Given the description of an element on the screen output the (x, y) to click on. 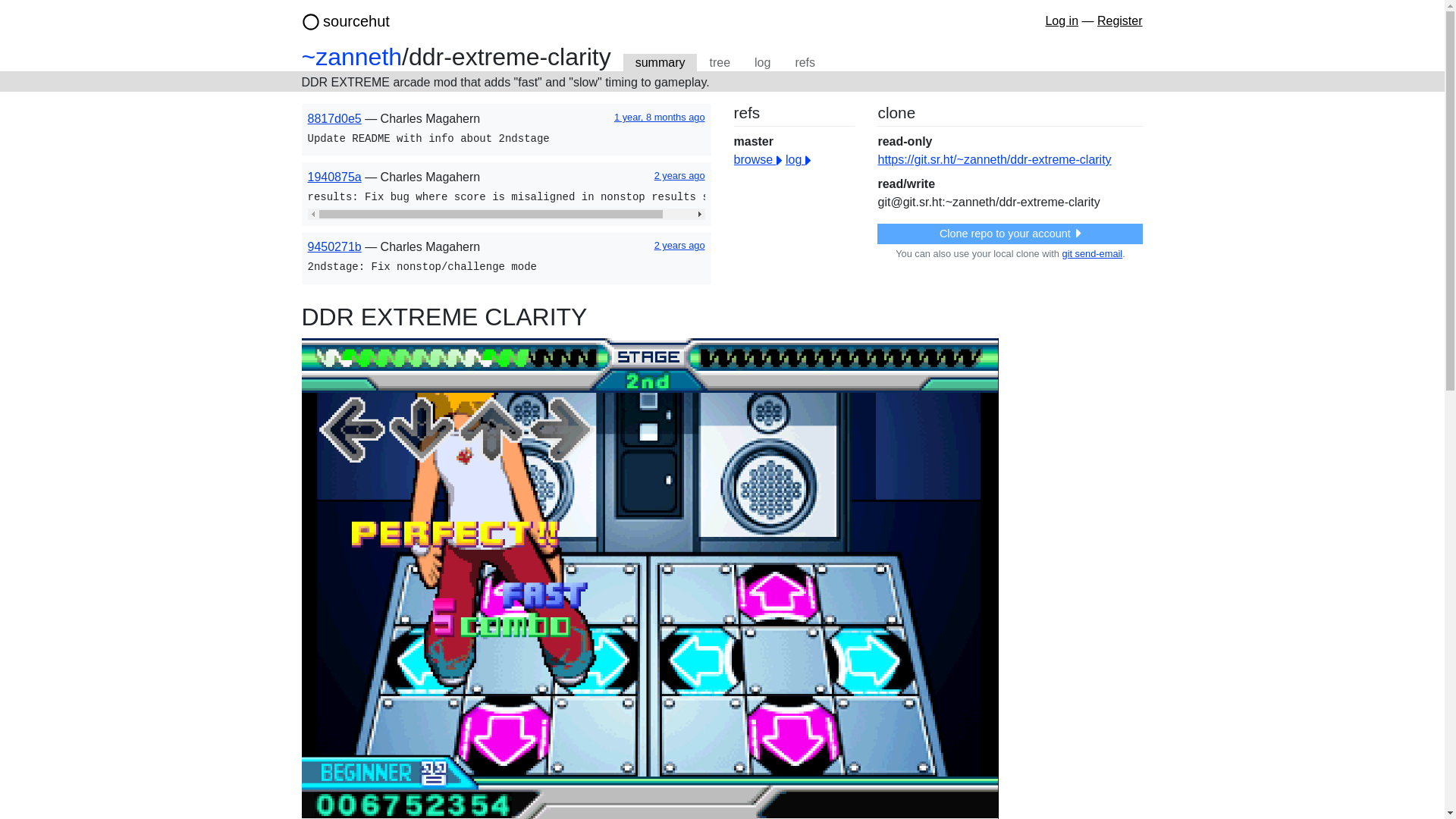
browse  (758, 159)
9450271b (334, 246)
2 years ago (678, 174)
1940875ad9599b0e2ad7f2cd39218ecd60c10b53 (334, 176)
Log in (1061, 20)
log  (798, 159)
sourcehut (356, 21)
1940875a (334, 176)
2 years ago (678, 244)
refs (805, 63)
